Given the description of an element on the screen output the (x, y) to click on. 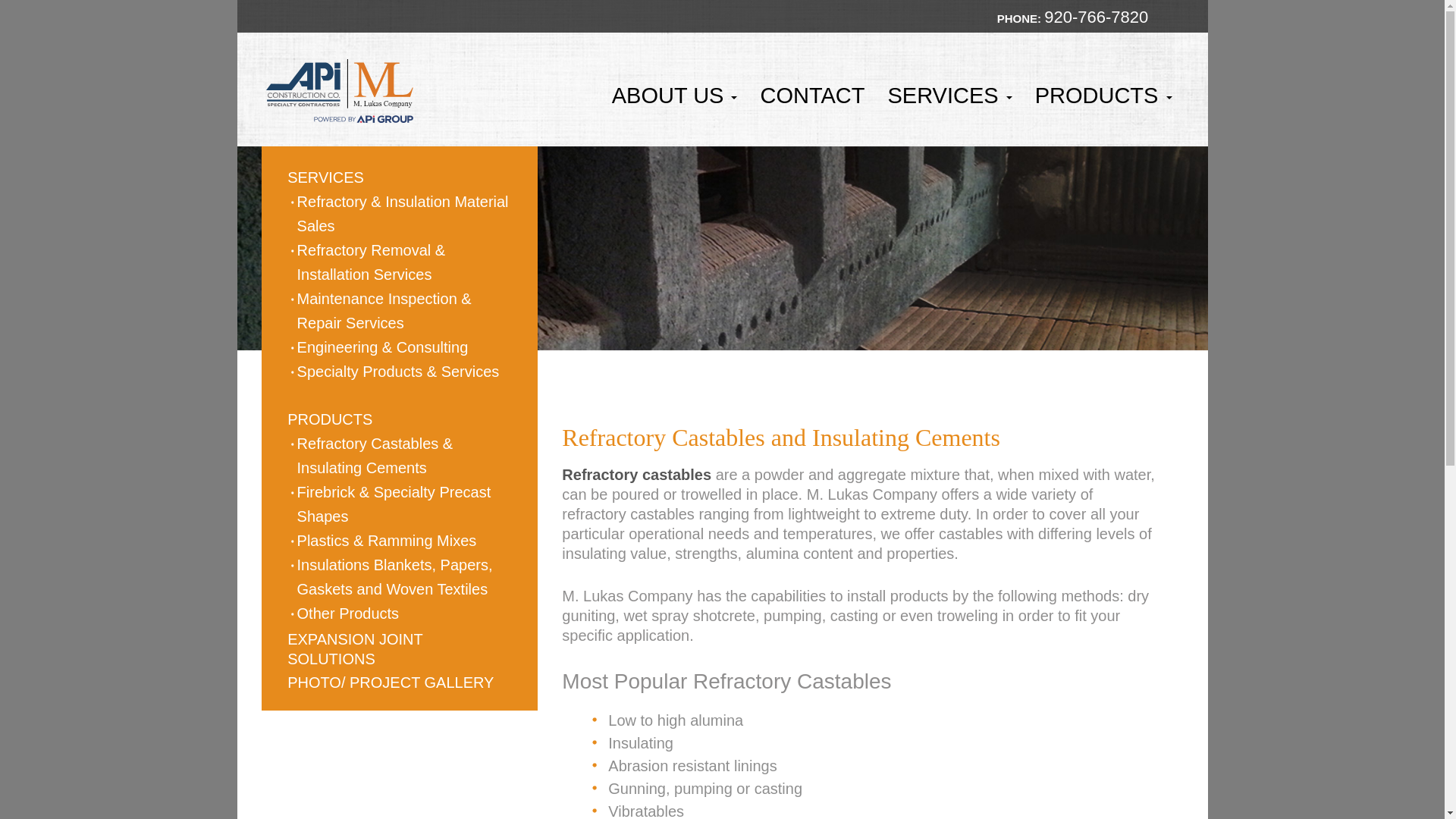
Insulations Blankets, Papers, Gaskets and Woven Textiles (401, 576)
920-766-7820 (1095, 16)
Other Products (344, 613)
CONTACT (812, 95)
ABOUT US (674, 95)
SERVICES (948, 95)
SERVICES (325, 176)
PRODUCTS (329, 419)
EXPANSION JOINT SOLUTIONS (354, 648)
PRODUCTS (1103, 95)
